Given the description of an element on the screen output the (x, y) to click on. 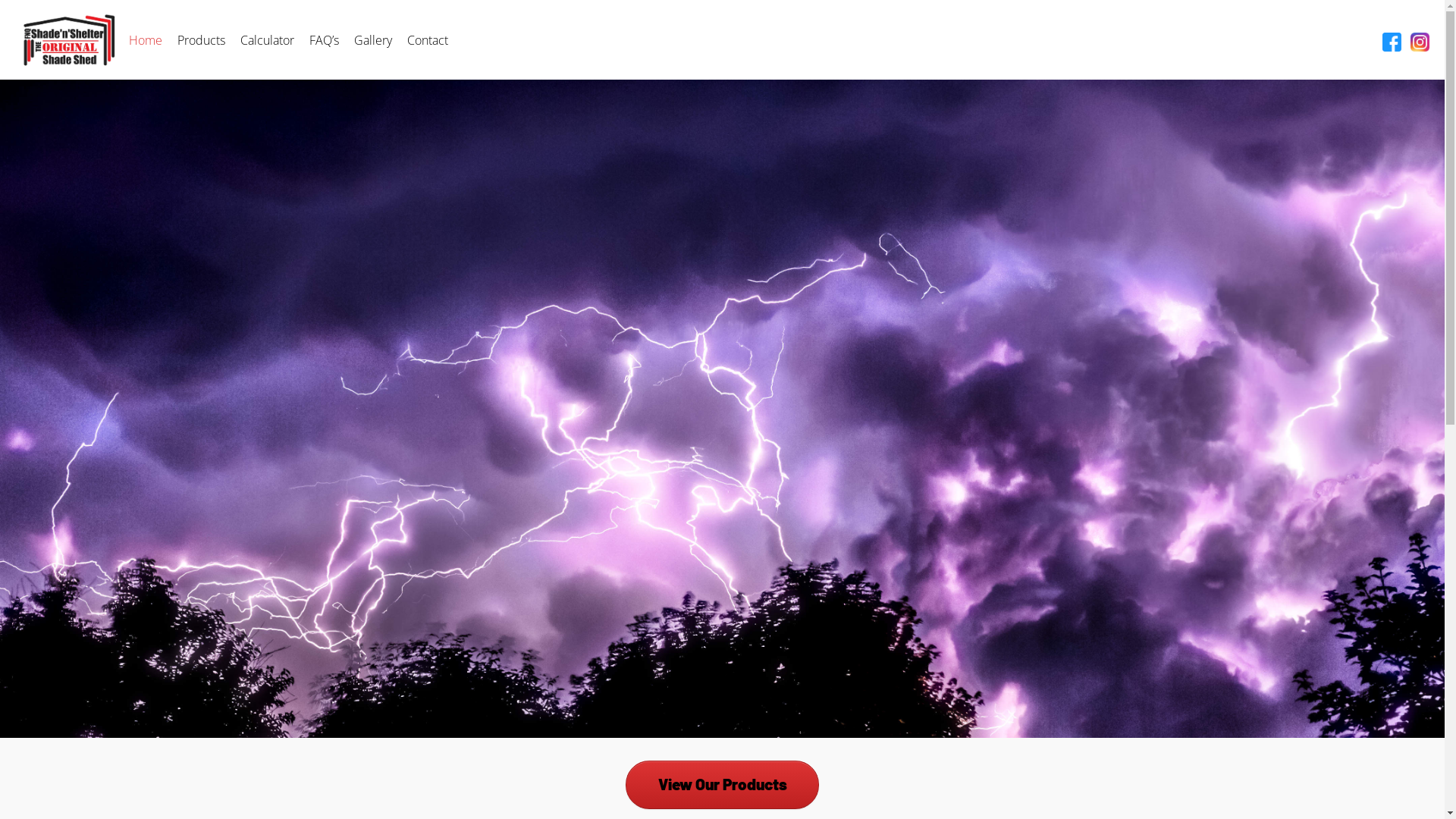
Products Element type: text (200, 39)
View Our Products Element type: text (722, 784)
Contact Element type: text (427, 39)
Home Element type: text (145, 39)
Calculator Element type: text (266, 39)
Gallery Element type: text (372, 39)
Follow Us on Instagram Element type: hover (1419, 40)
Follow Us on Facebook Element type: hover (1391, 40)
